Given the description of an element on the screen output the (x, y) to click on. 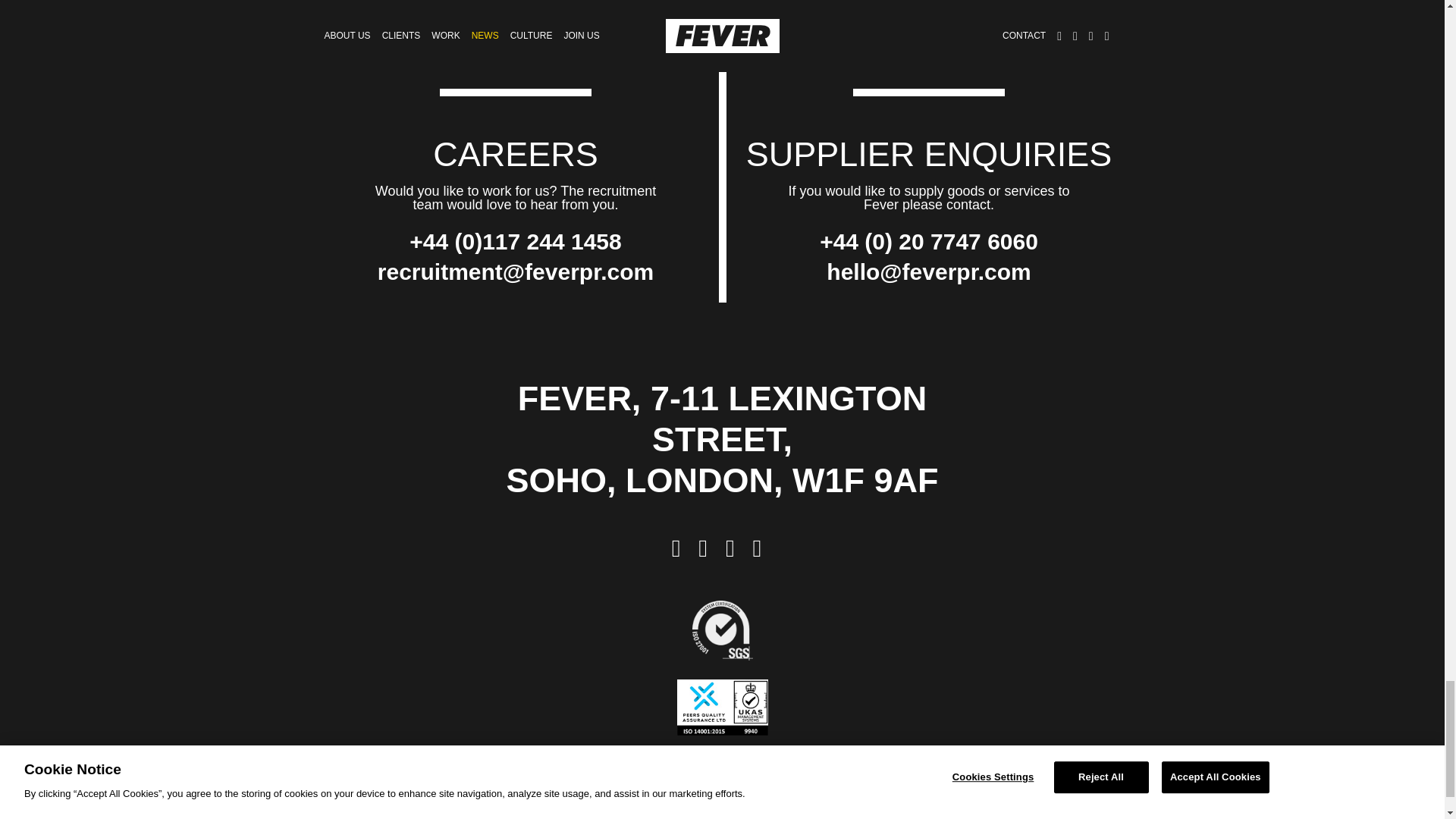
an UNLIMITED agency (721, 760)
Terms of Website Use Policy (729, 807)
Privacy Policy (605, 807)
Cookie Policy (852, 807)
Acceptable Use Policy (498, 807)
